Given the description of an element on the screen output the (x, y) to click on. 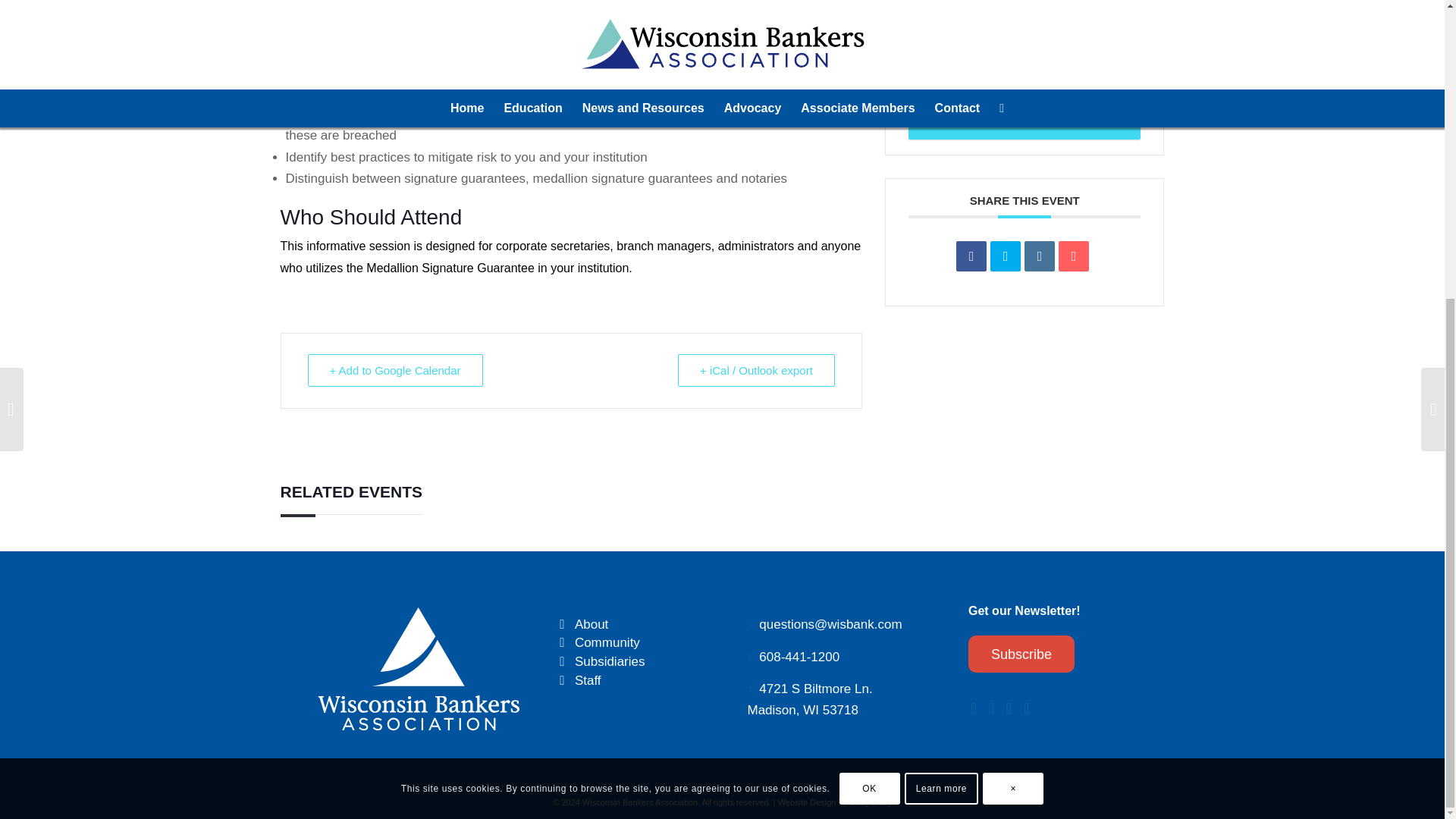
Staff (588, 680)
Website Design by Bizzy Bizzy (834, 801)
Subsidiaries (610, 661)
Email (1073, 255)
About (591, 624)
Tweet (1005, 255)
Linkedin (1039, 255)
WBA-Wisconsin-bankers-association-Footer-logo (418, 668)
Subscribe (1021, 654)
608-441-1200 (799, 657)
Read More (1024, 110)
Community (562, 642)
Branch Manager (988, 22)
Community (607, 642)
About (562, 624)
